Given the description of an element on the screen output the (x, y) to click on. 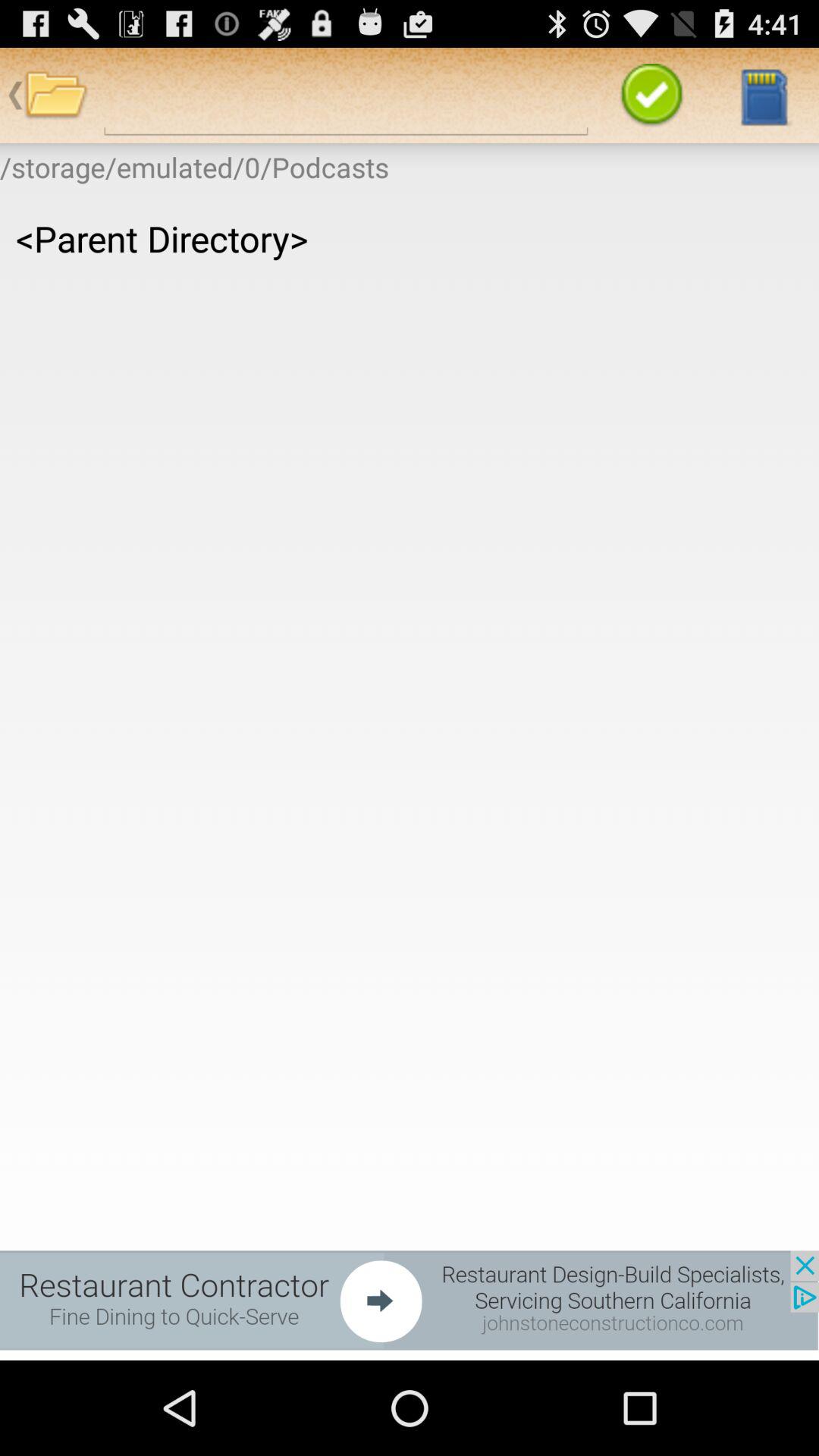
file search (346, 95)
